Given the description of an element on the screen output the (x, y) to click on. 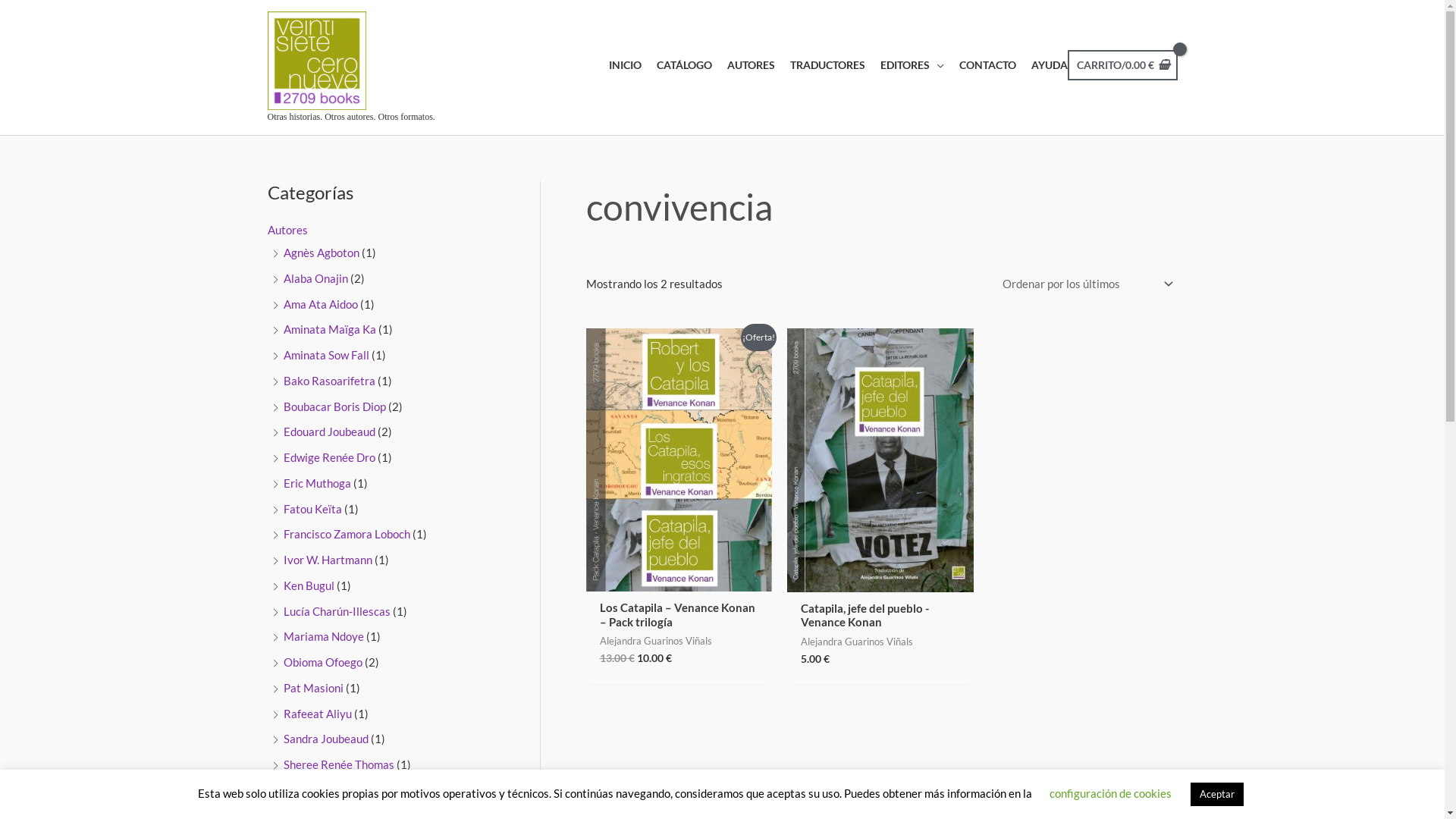
Pat Masioni Element type: text (313, 687)
Aceptar Element type: text (1216, 794)
EDITORES Element type: text (904, 64)
Sleeping Pop Element type: text (315, 790)
Autores Element type: text (286, 229)
Bako Rasoarifetra Element type: text (329, 380)
TRADUCTORES Element type: text (820, 64)
Ken Bugul Element type: text (308, 585)
CONTACTO Element type: text (980, 64)
Obioma Ofoego Element type: text (322, 661)
Aminata Sow Fall Element type: text (326, 354)
Catapila, jefe del pueblo - Venance Konan Element type: text (880, 618)
Ivor W. Hartmann Element type: text (327, 559)
Mariama Ndoye Element type: text (323, 636)
Alaba Onajin Element type: text (315, 278)
Francisco Zamora Loboch Element type: text (346, 533)
AUTORES Element type: text (743, 64)
Edouard Joubeaud Element type: text (329, 431)
Boubacar Boris Diop Element type: text (334, 406)
Ama Ata Aidoo Element type: text (320, 303)
Rafeeat Aliyu Element type: text (317, 713)
INICIO Element type: text (617, 64)
Eric Muthoga Element type: text (317, 482)
Sandra Joubeaud Element type: text (325, 738)
AYUDA Element type: text (1041, 64)
